Given the description of an element on the screen output the (x, y) to click on. 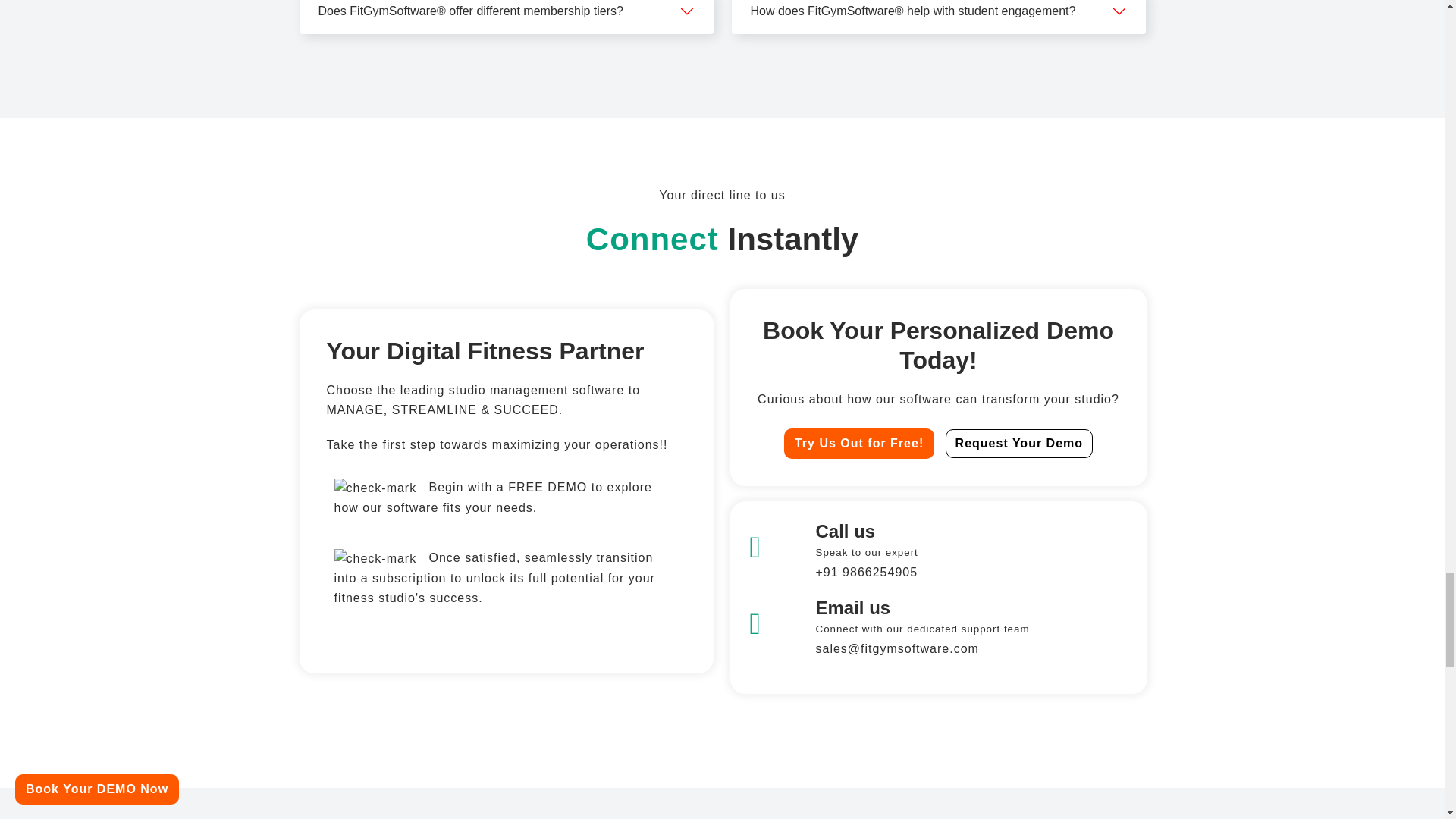
Request Your Demo (1018, 443)
